Given the description of an element on the screen output the (x, y) to click on. 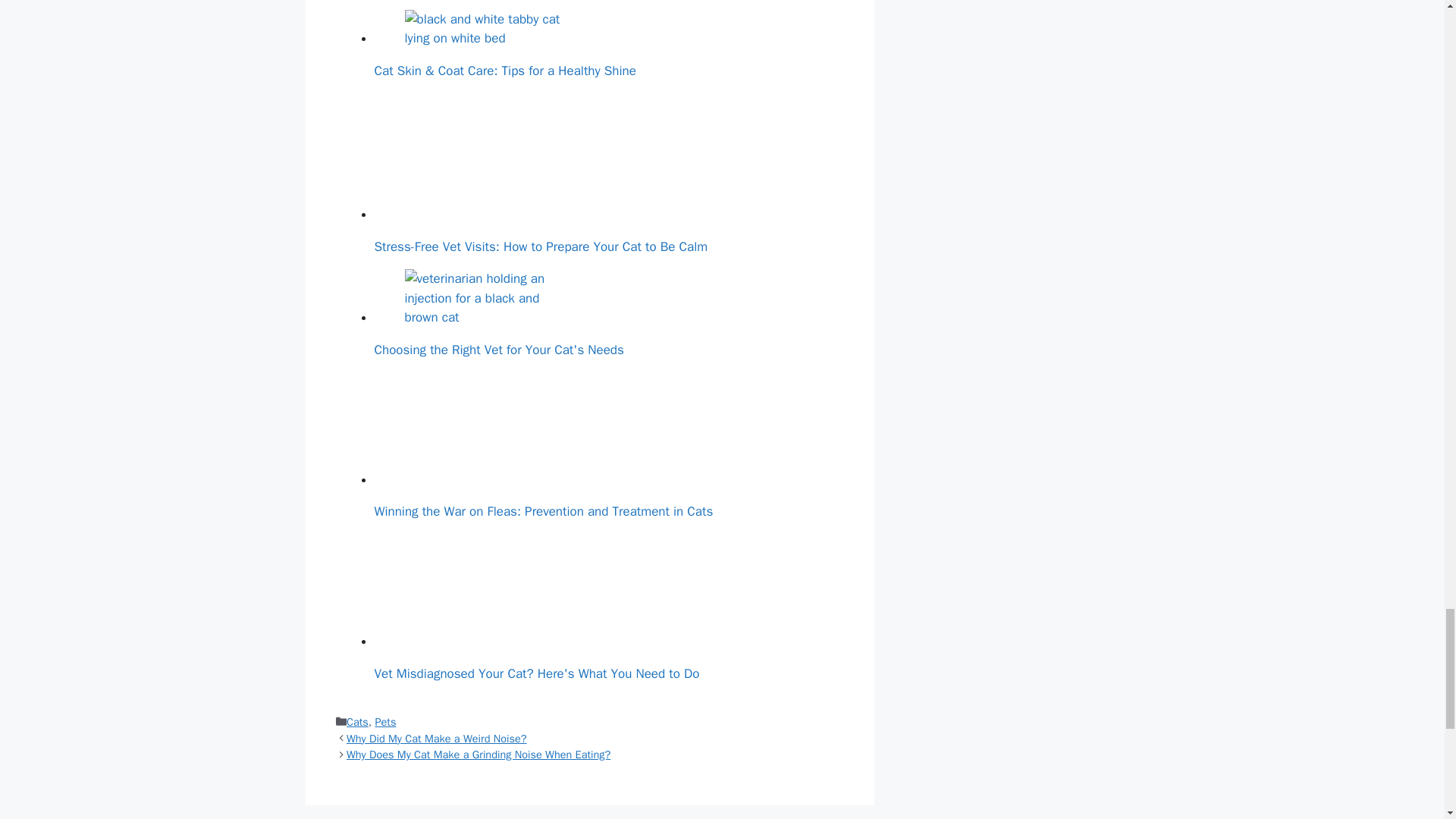
Choosing the Right Vet for Your Cat's Needs (488, 298)
Stress-Free Vet Visits: How to Prepare Your Cat to Be Calm (488, 155)
Winning the War on Fleas: Prevention and Treatment in Cats (488, 428)
